Given the description of an element on the screen output the (x, y) to click on. 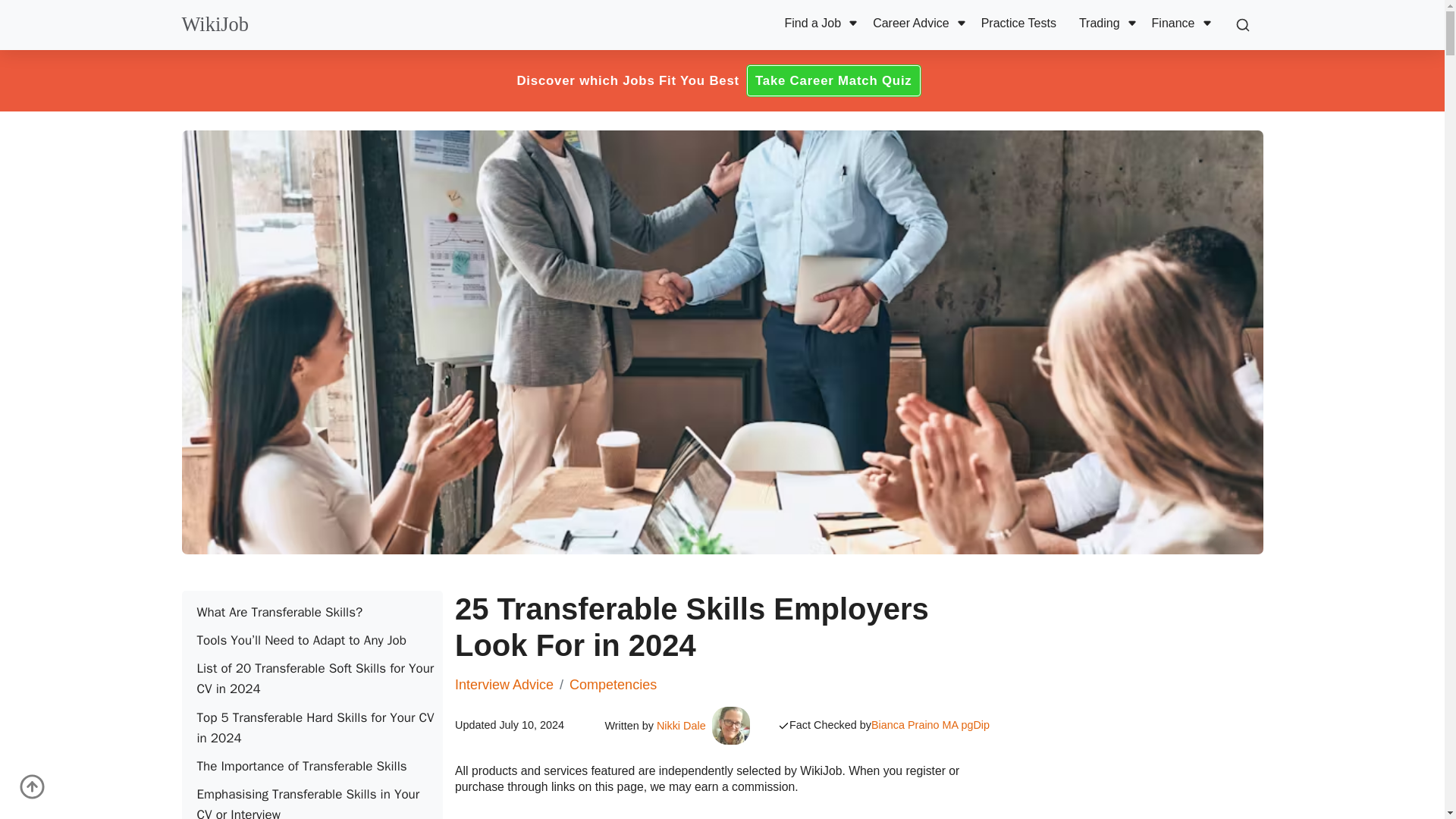
Find a Job (816, 23)
WikiJob (215, 24)
